Given the description of an element on the screen output the (x, y) to click on. 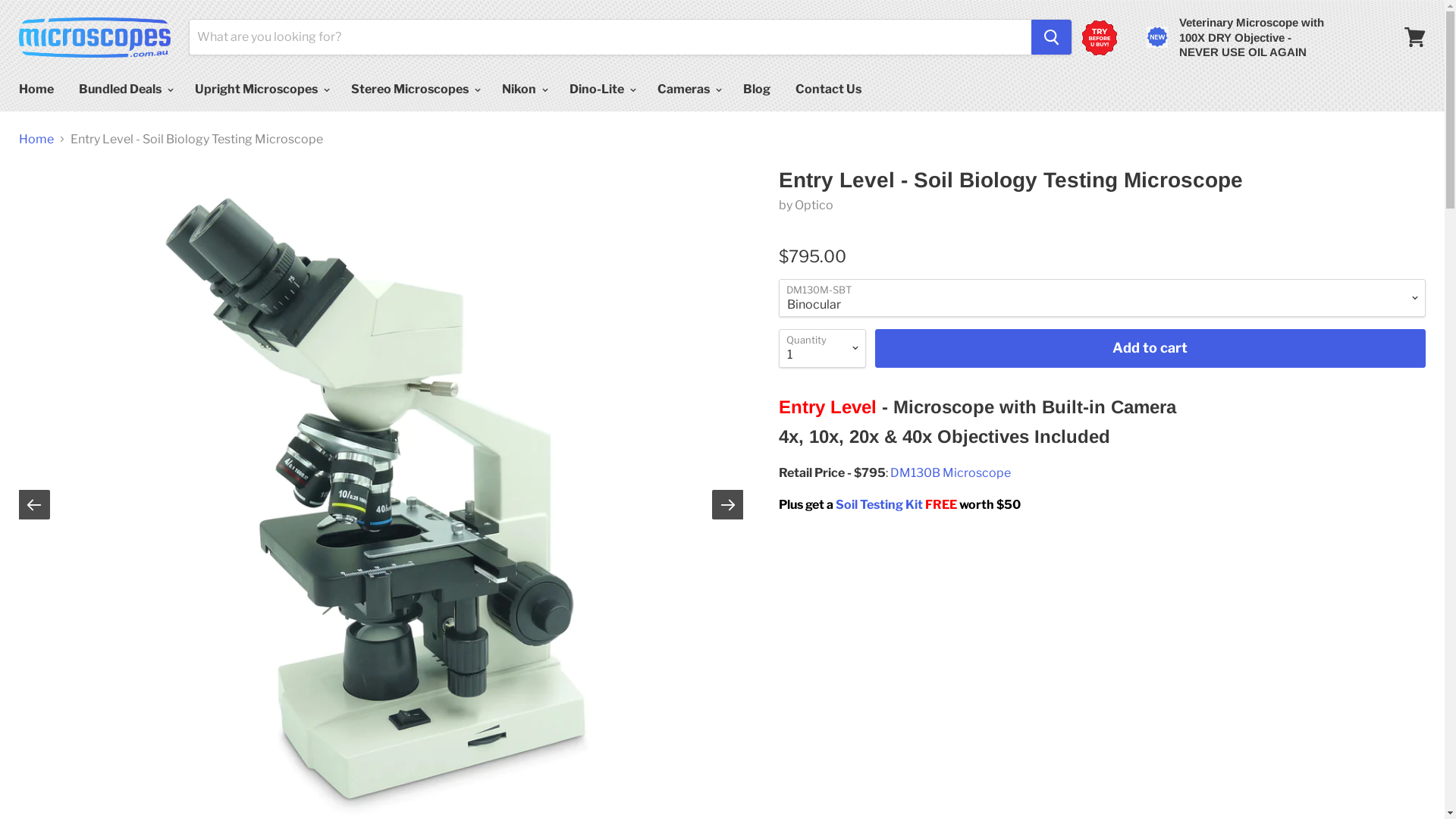
Nikon Element type: text (522, 88)
DM130B Microscope Element type: text (950, 472)
Home Element type: text (35, 138)
Stereo Microscopes Element type: text (413, 88)
View cart Element type: text (1414, 36)
Soil Testing Kit Element type: text (878, 504)
Add to cart Element type: text (1150, 348)
Bundled Deals Element type: text (124, 88)
Blog Element type: text (756, 88)
Upright Microscopes Element type: text (260, 88)
Dino-Lite Element type: text (600, 88)
Contact Us Element type: text (828, 88)
Home Element type: text (36, 88)
Cameras Element type: text (687, 88)
